Given the description of an element on the screen output the (x, y) to click on. 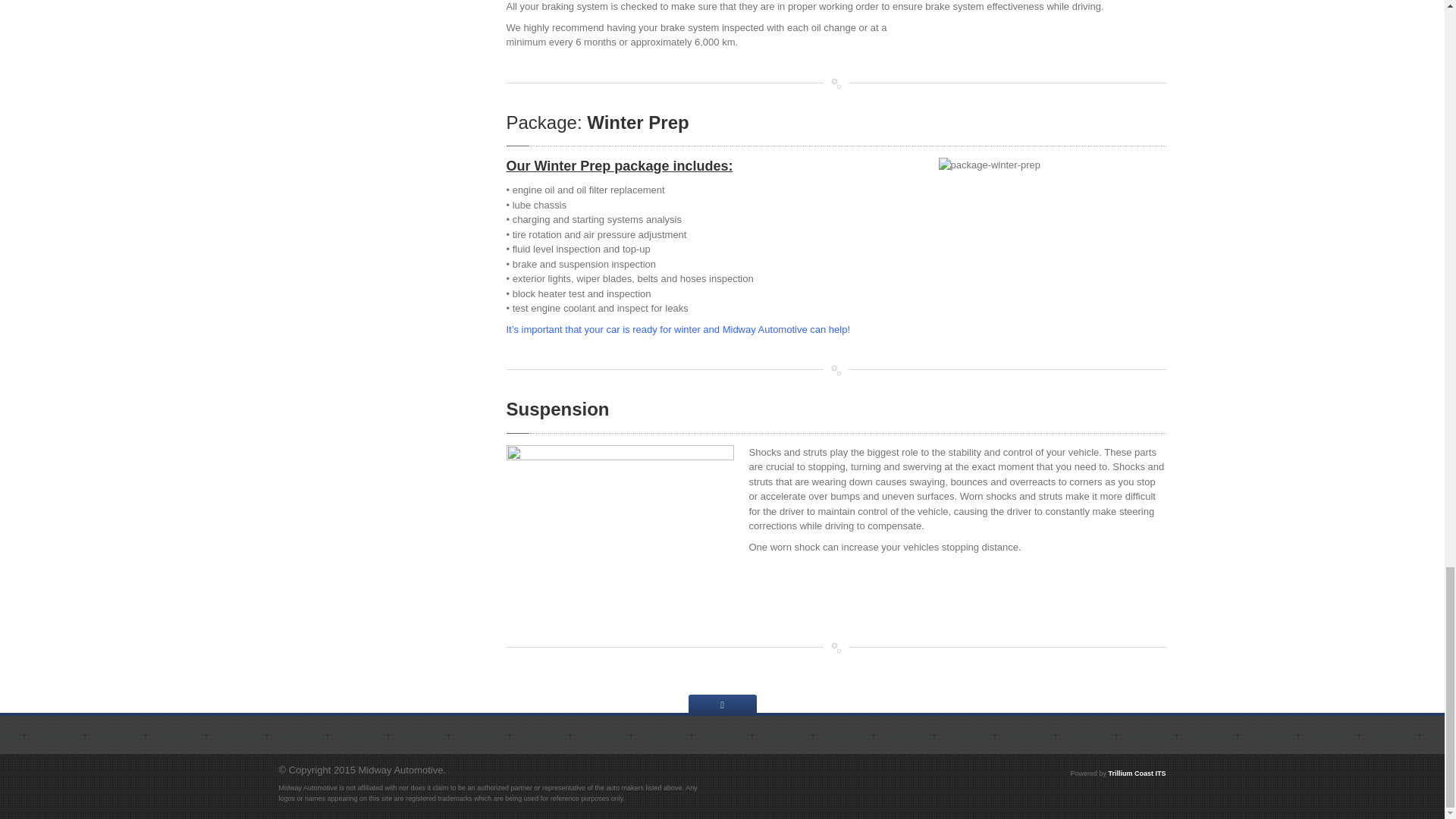
Suspension (558, 408)
Package: Winter Prep (597, 122)
Trillium Coast ITS (1137, 773)
